Given the description of an element on the screen output the (x, y) to click on. 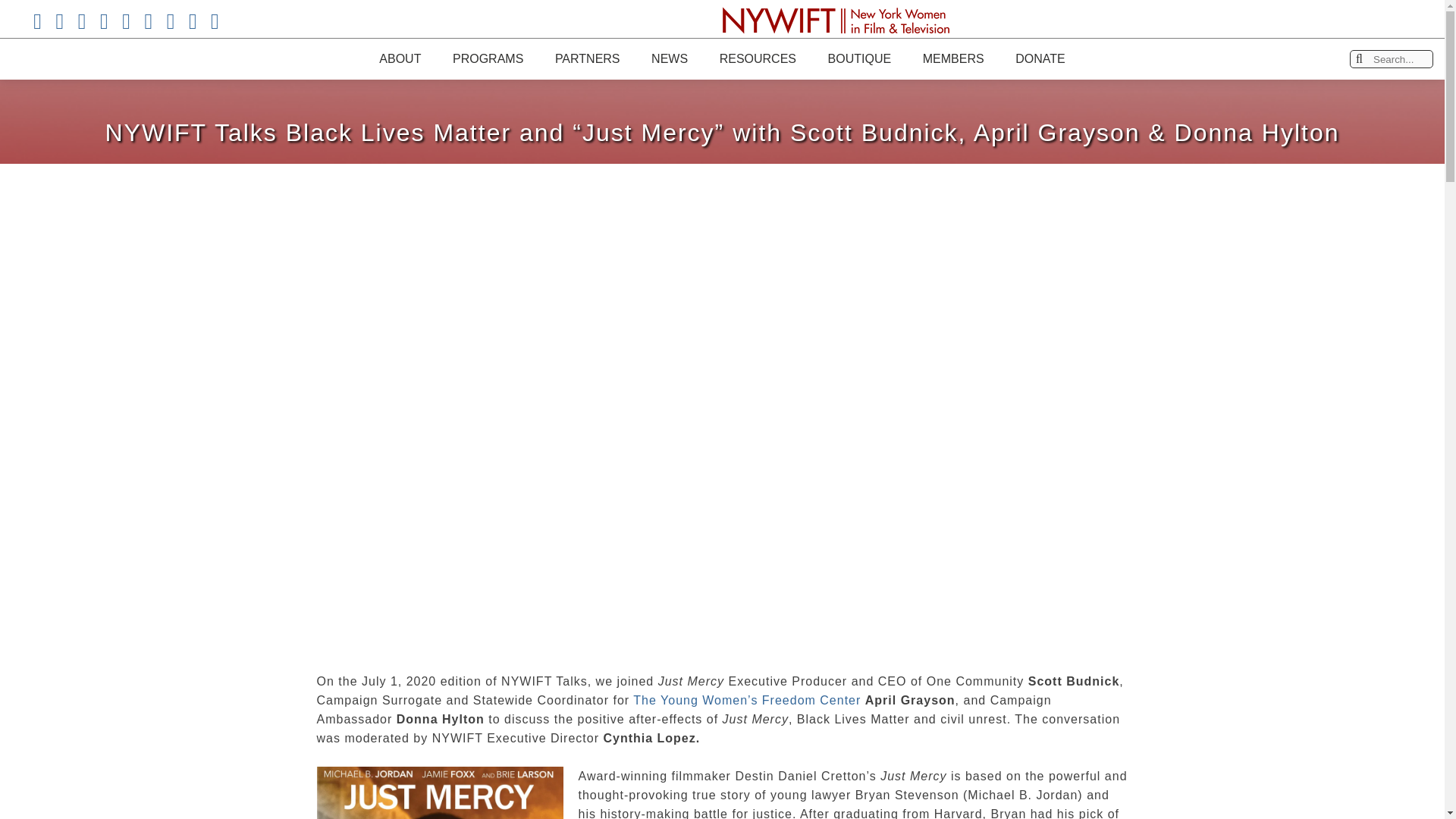
RESOURCES (757, 58)
NEWS (669, 58)
PARTNERS (587, 58)
ABOUT (399, 58)
PROGRAMS (488, 58)
